Given the description of an element on the screen output the (x, y) to click on. 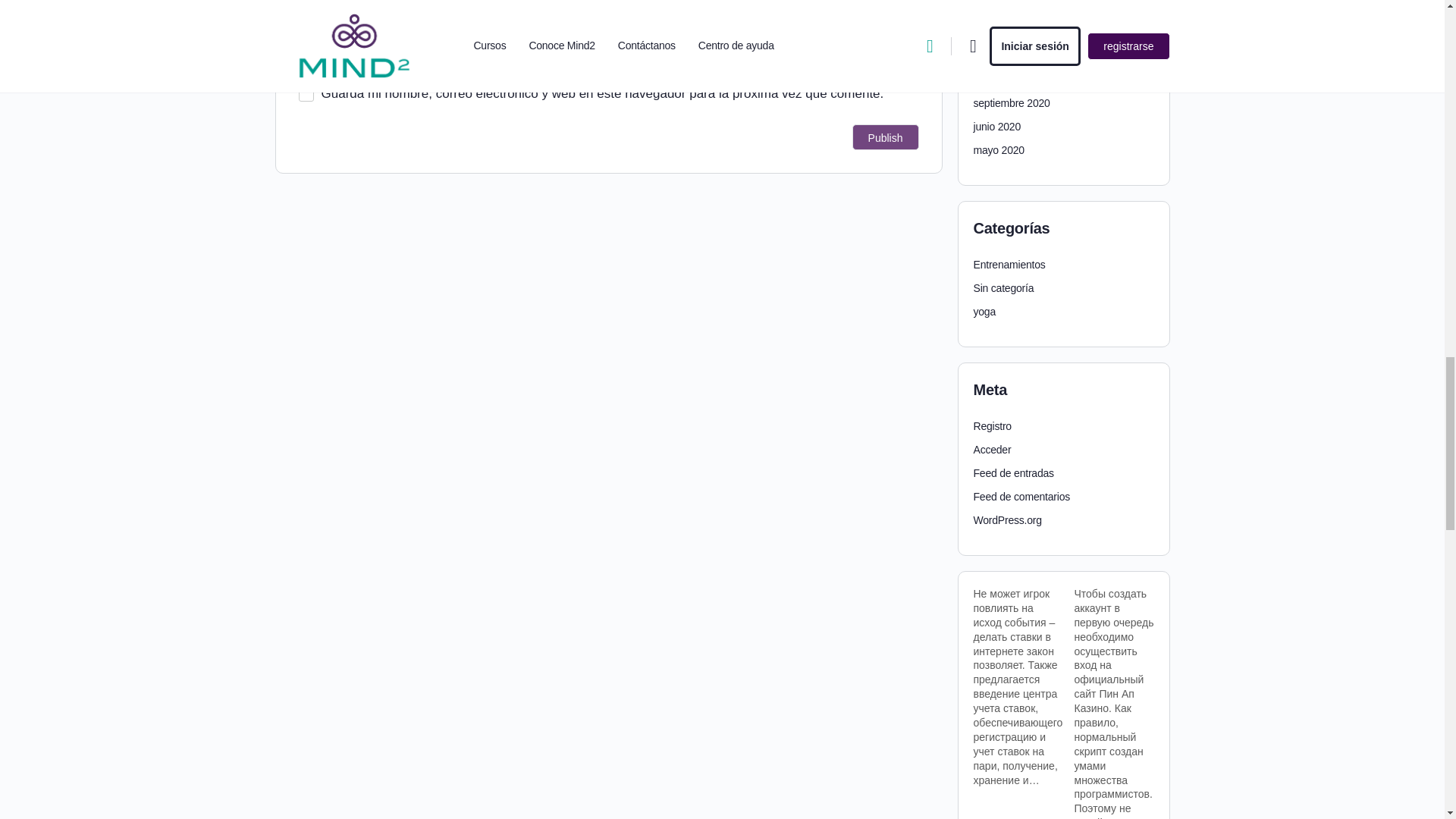
Publish (884, 136)
